Given the description of an element on the screen output the (x, y) to click on. 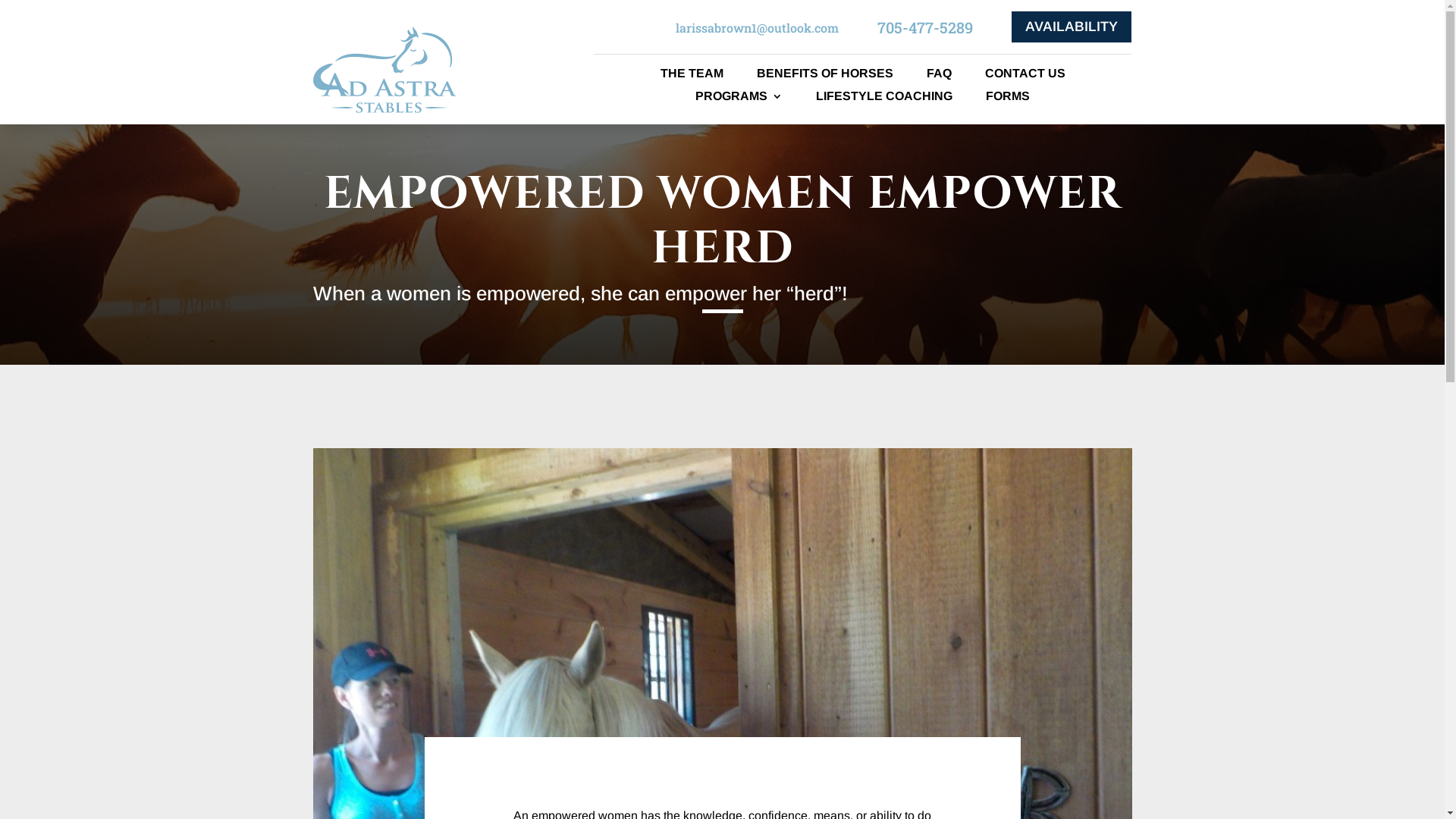
PROGRAMS Element type: text (738, 99)
FORMS Element type: text (1007, 99)
THE TEAM Element type: text (691, 76)
larissabrown1@outlook.com Element type: text (756, 27)
LIFESTYLE COACHING Element type: text (883, 99)
FAQ Element type: text (938, 76)
logo Element type: hover (383, 69)
BENEFITS OF HORSES Element type: text (824, 76)
CONTACT US Element type: text (1025, 76)
AVAILABILITY Element type: text (1071, 26)
705-477-5289 Element type: text (924, 27)
